Given the description of an element on the screen output the (x, y) to click on. 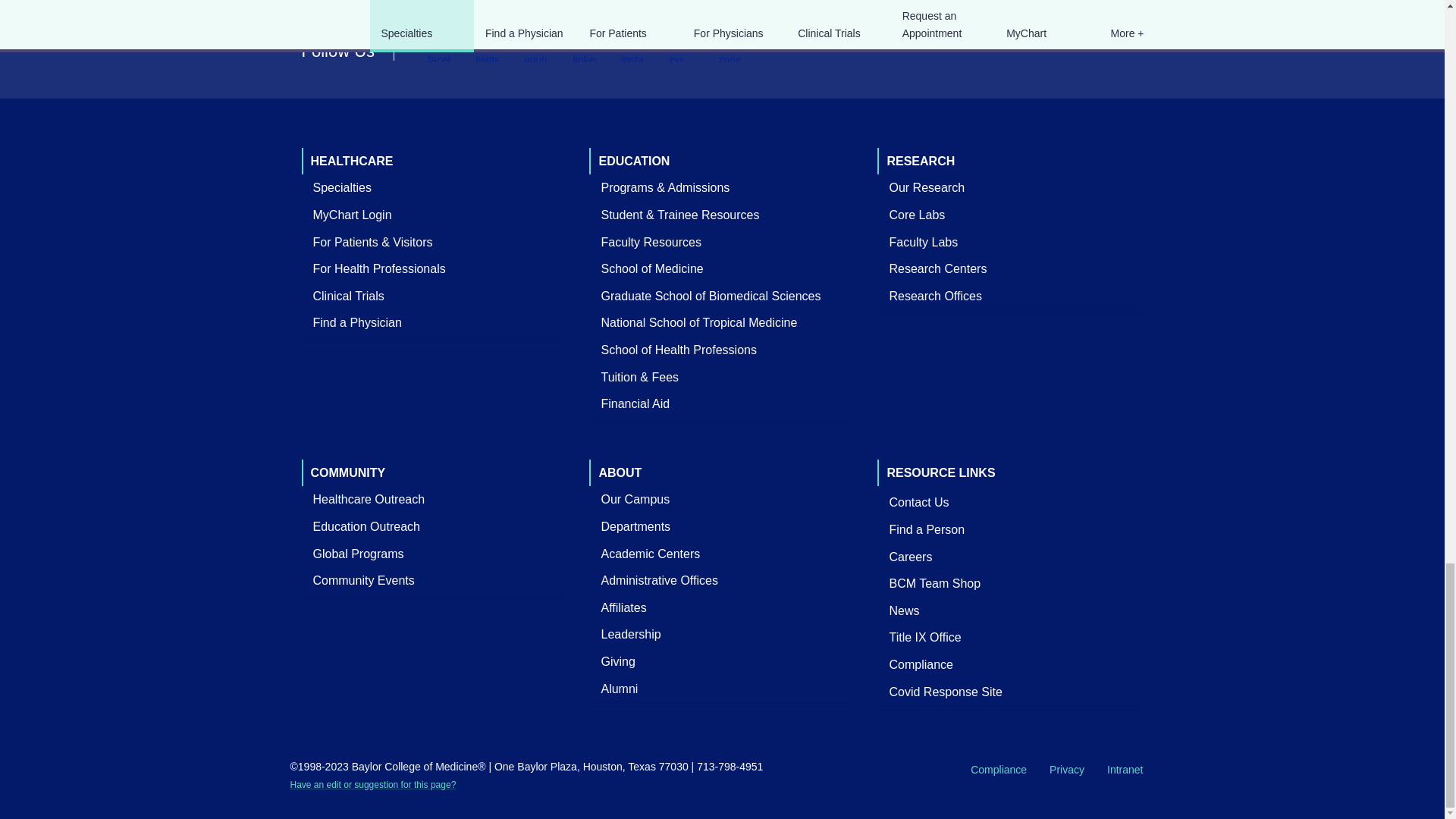
Compliance (920, 664)
Covid Response Site (945, 691)
Title IX and Gender Discrimination (924, 637)
Web Request (372, 784)
